Given the description of an element on the screen output the (x, y) to click on. 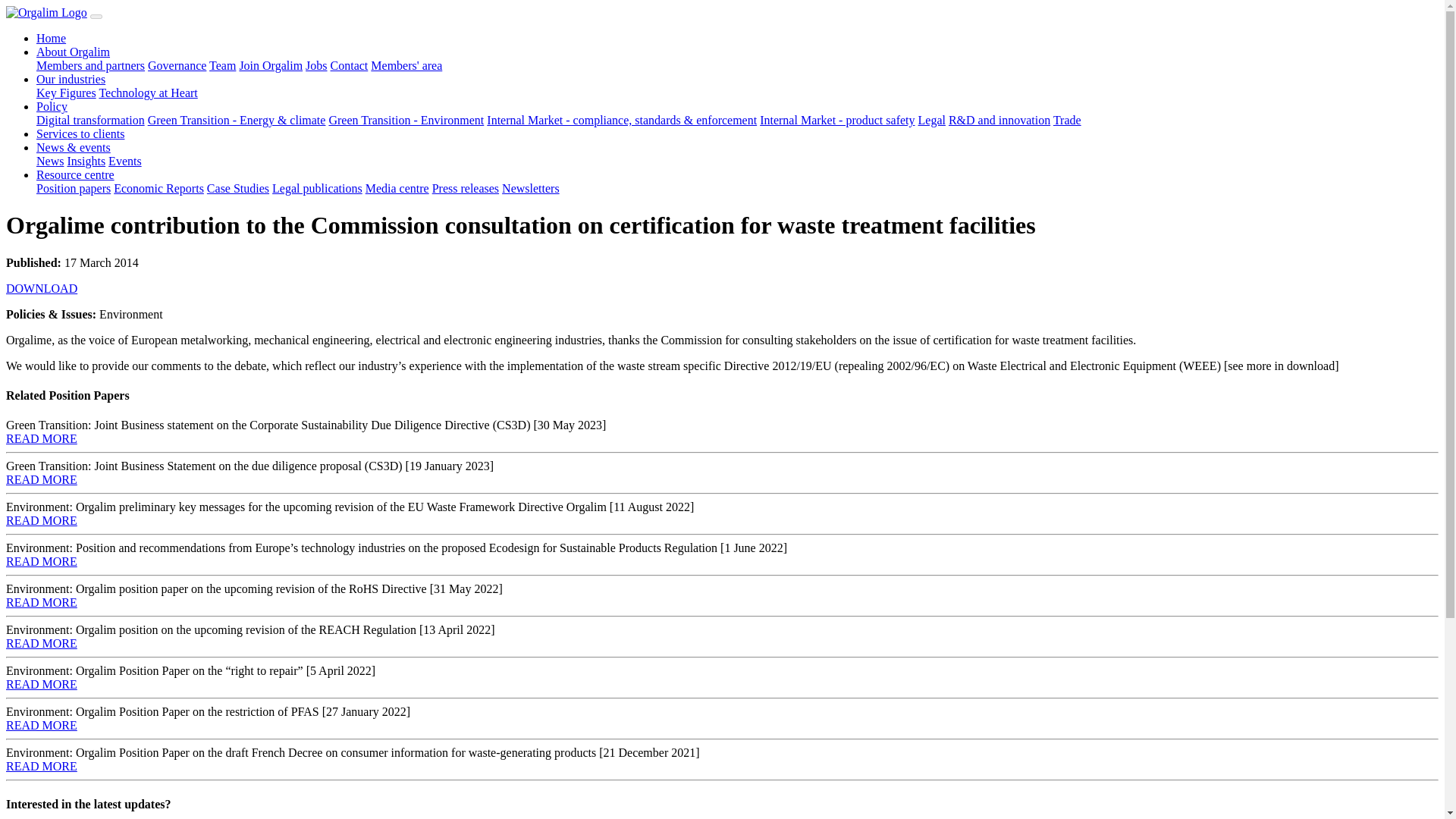
Digital transformation (90, 119)
Jobs (315, 65)
Resource centre (75, 174)
Services to clients (79, 133)
News (50, 160)
Team (222, 65)
Members' area (406, 65)
Internal Market - product safety (837, 119)
Contact (349, 65)
